Given the description of an element on the screen output the (x, y) to click on. 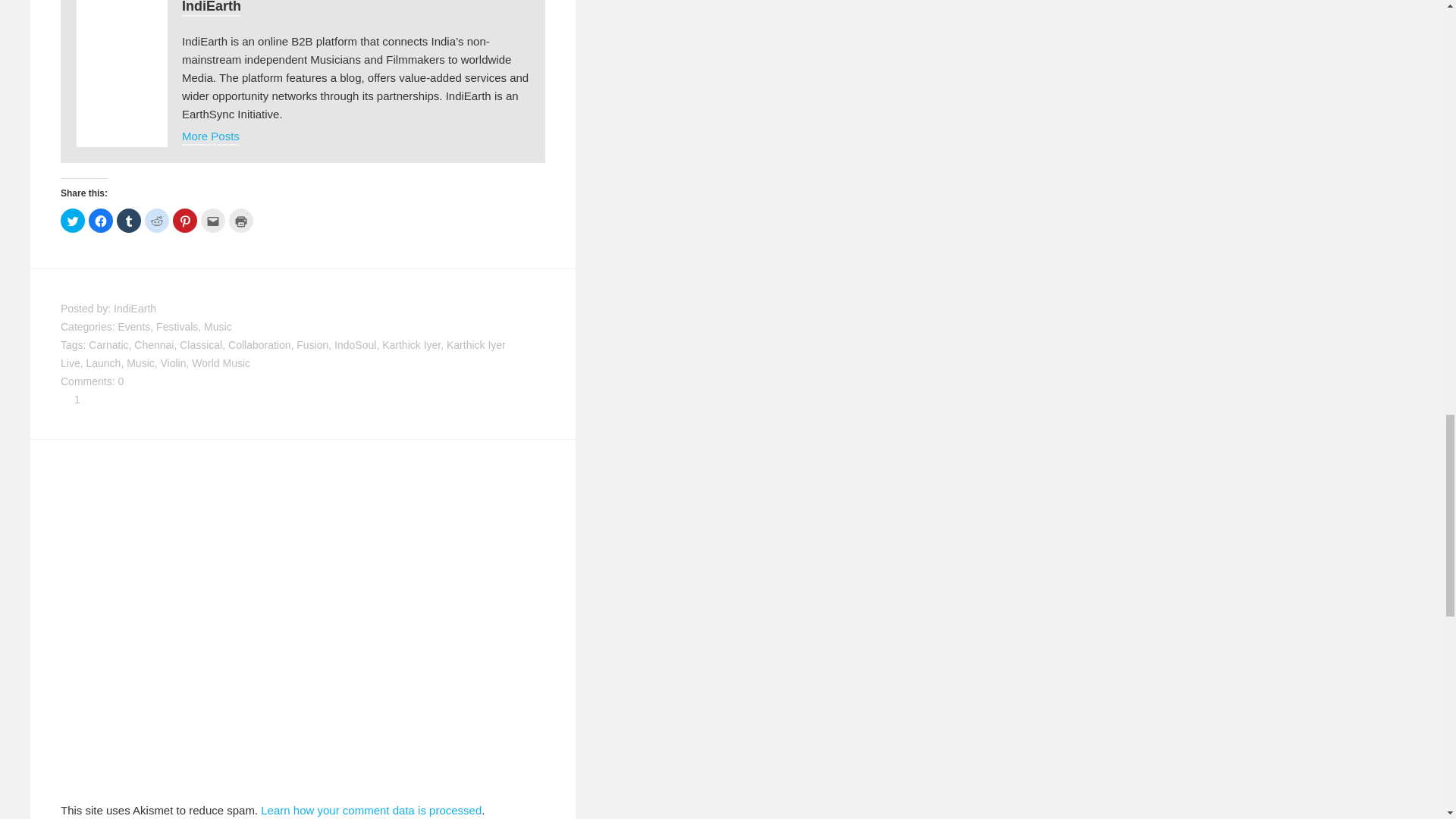
Click to share on Facebook (100, 220)
Click to share on Twitter (72, 220)
Click to email this to a friend (212, 220)
Click to print (240, 220)
IndiEarth (211, 8)
Click to share on Tumblr (128, 220)
More posts by IndiEarth (211, 137)
Click to share on Pinterest (184, 220)
Click to share on Reddit (156, 220)
